Given the description of an element on the screen output the (x, y) to click on. 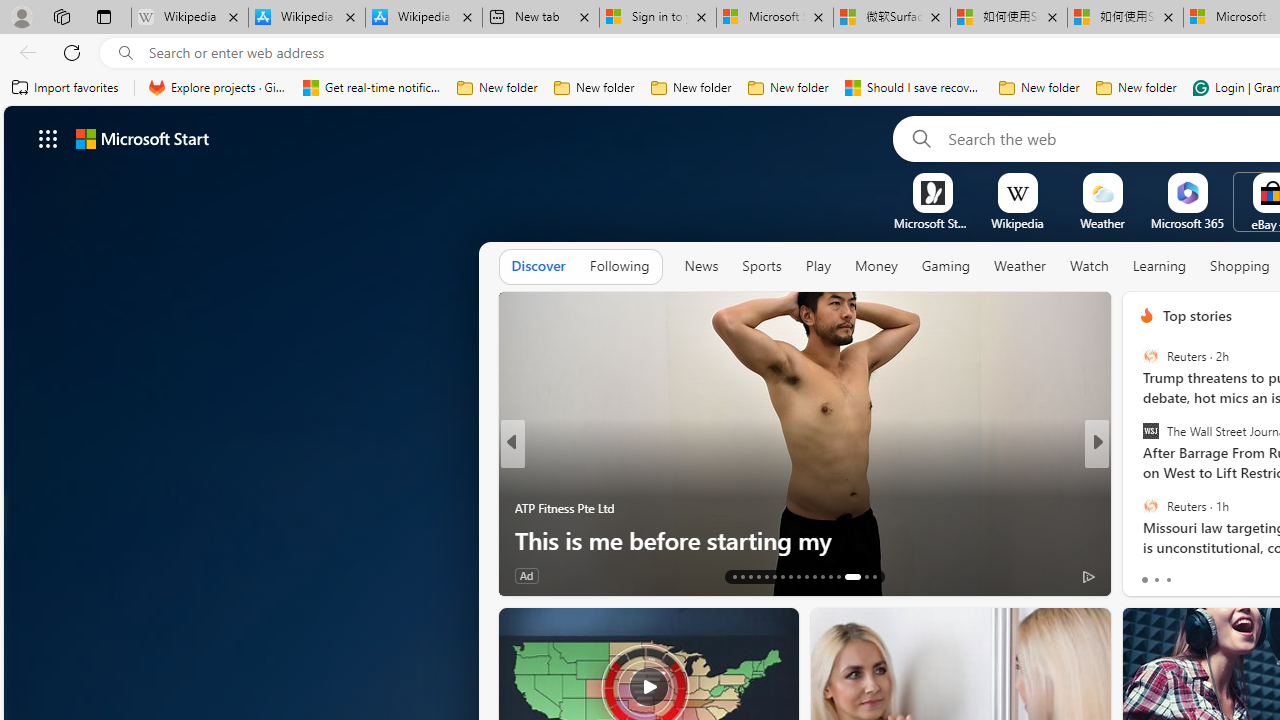
AutomationID: tab-23 (814, 576)
AutomationID: tab-22 (806, 576)
GOBankingRates (1138, 475)
AutomationID: tab-19 (782, 576)
